Given the description of an element on the screen output the (x, y) to click on. 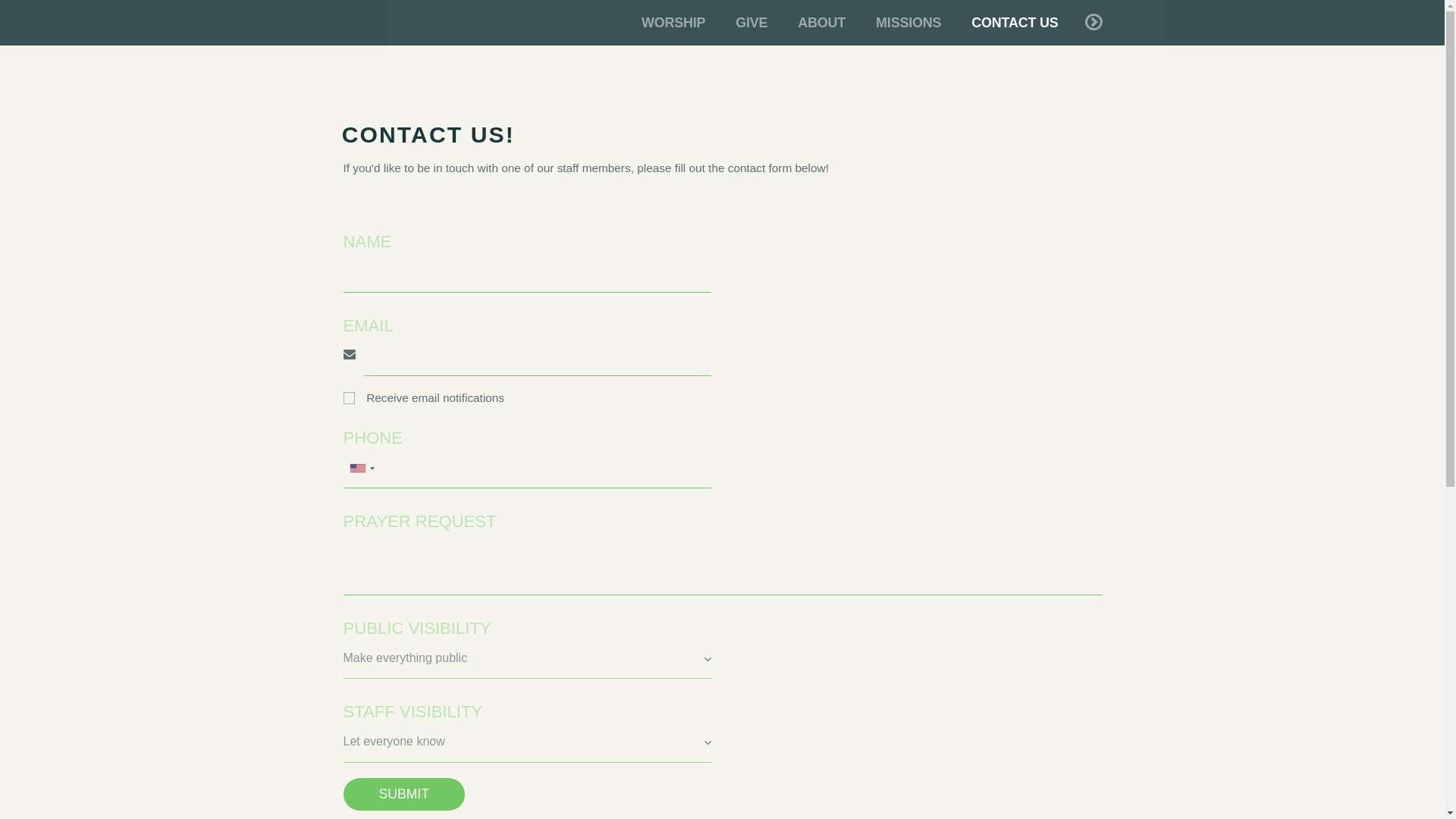
MISSIONS (908, 22)
false (336, 397)
WORSHIP (673, 22)
ABOUT (821, 22)
GIVE (751, 22)
